Given the description of an element on the screen output the (x, y) to click on. 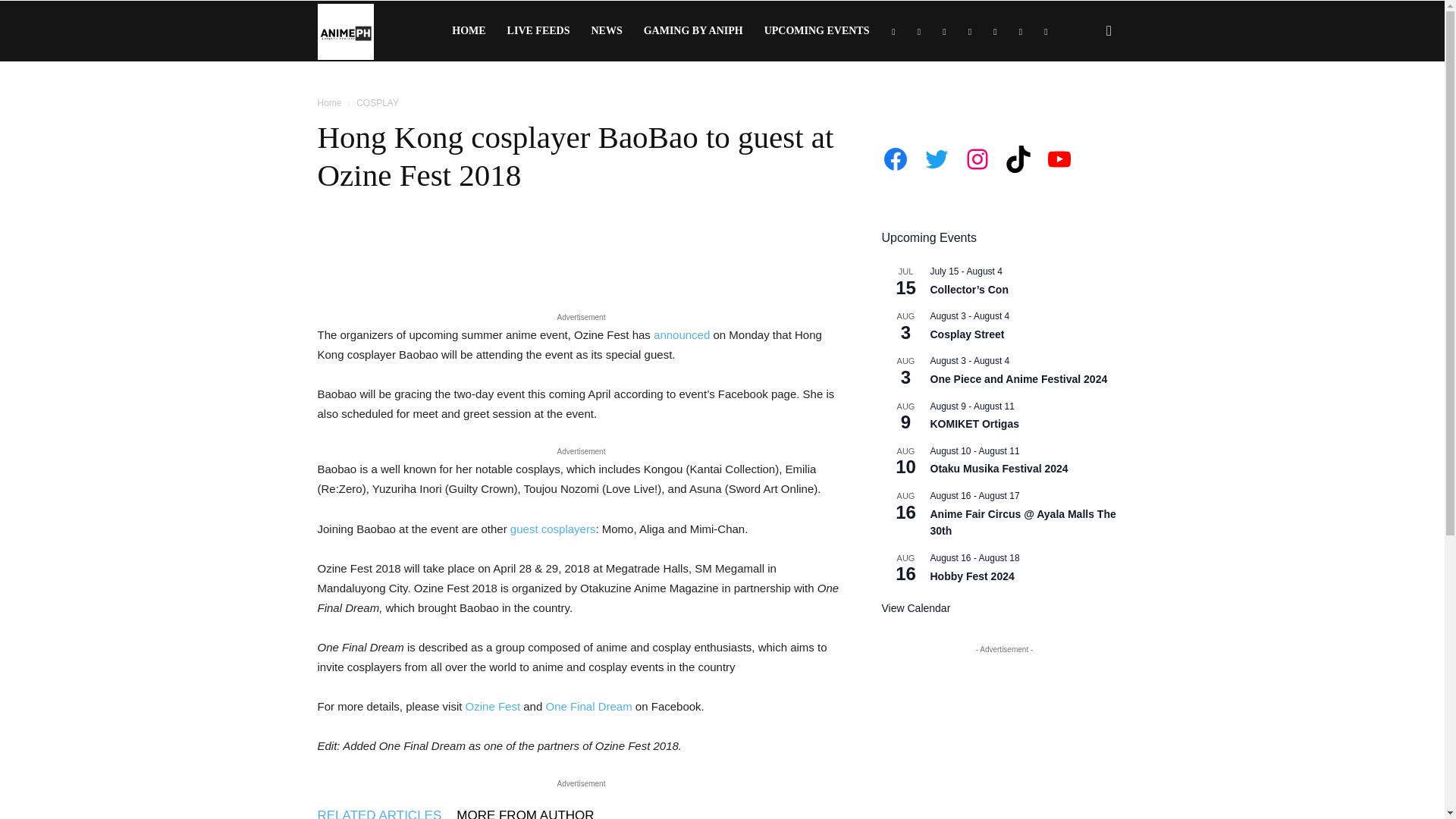
UPCOMING EVENTS (817, 30)
LIVE FEEDS (538, 30)
Search (1085, 103)
GAMING BY ANIPH (693, 30)
HOME (468, 30)
Home (328, 102)
ANIMEPH (344, 30)
